Given the description of an element on the screen output the (x, y) to click on. 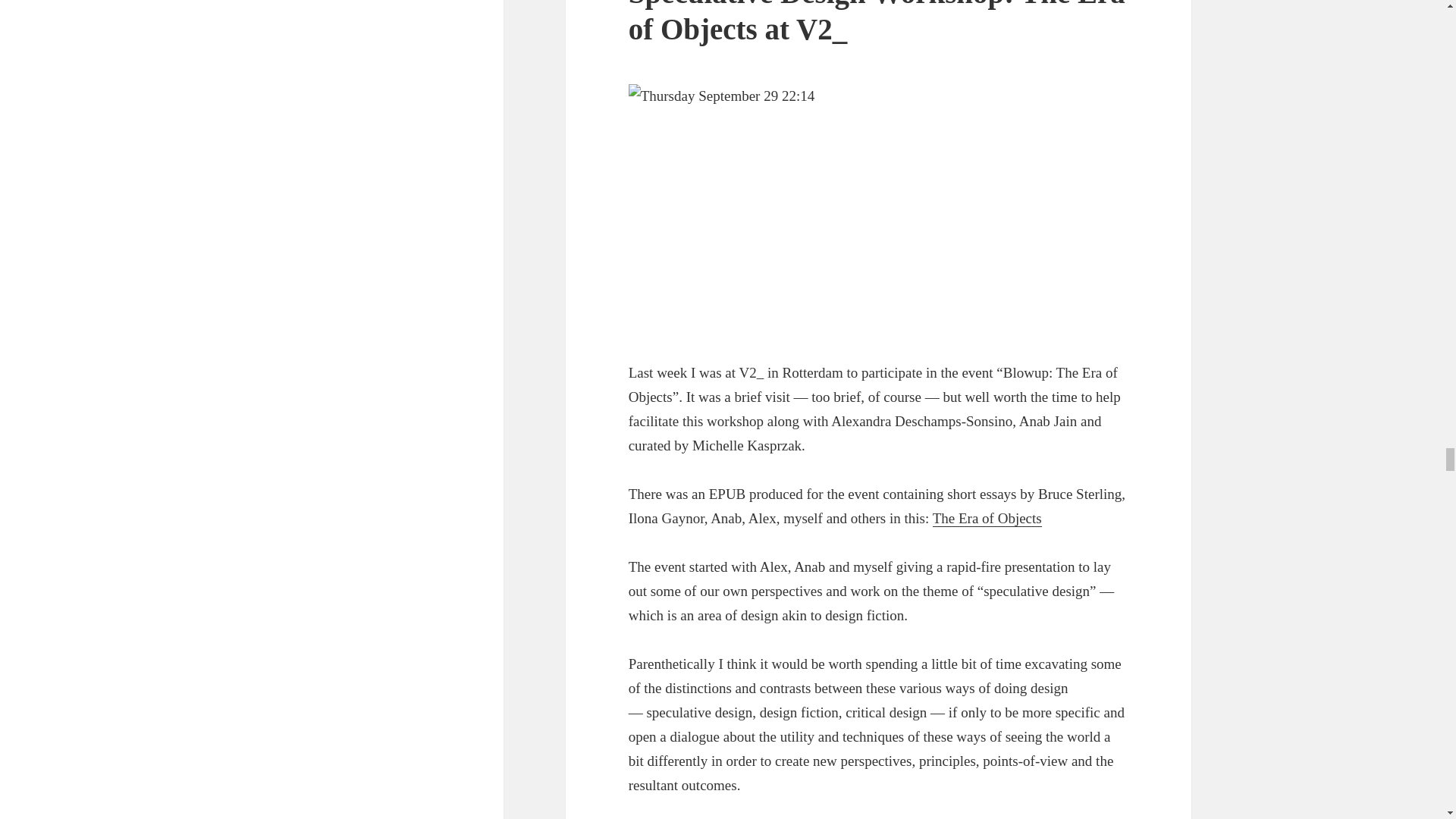
Thursday September 29 22:14 by JulianBleecker, on Flickr (878, 210)
